Given the description of an element on the screen output the (x, y) to click on. 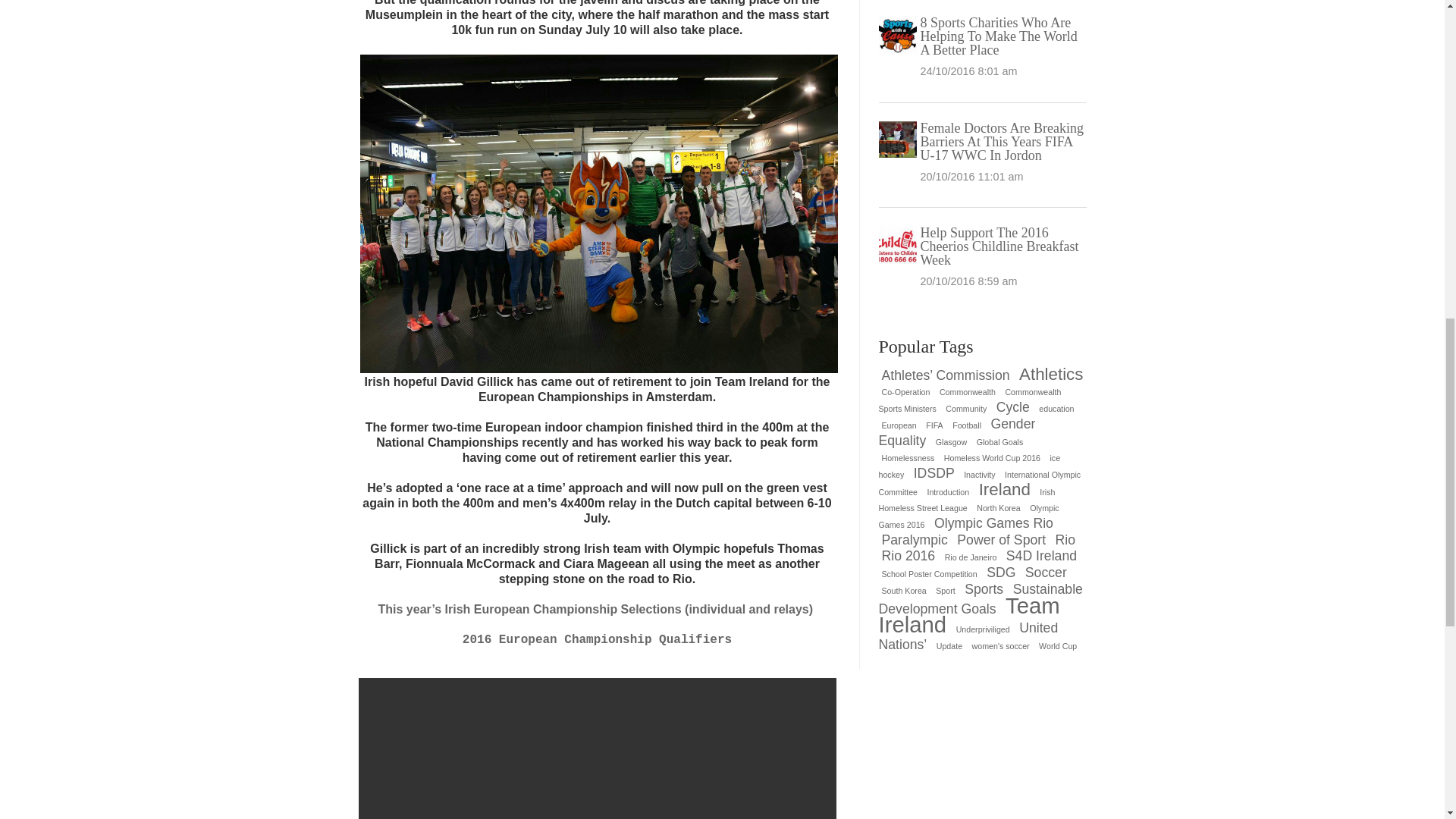
2016 European Championship Qualifiers (597, 647)
